Given the description of an element on the screen output the (x, y) to click on. 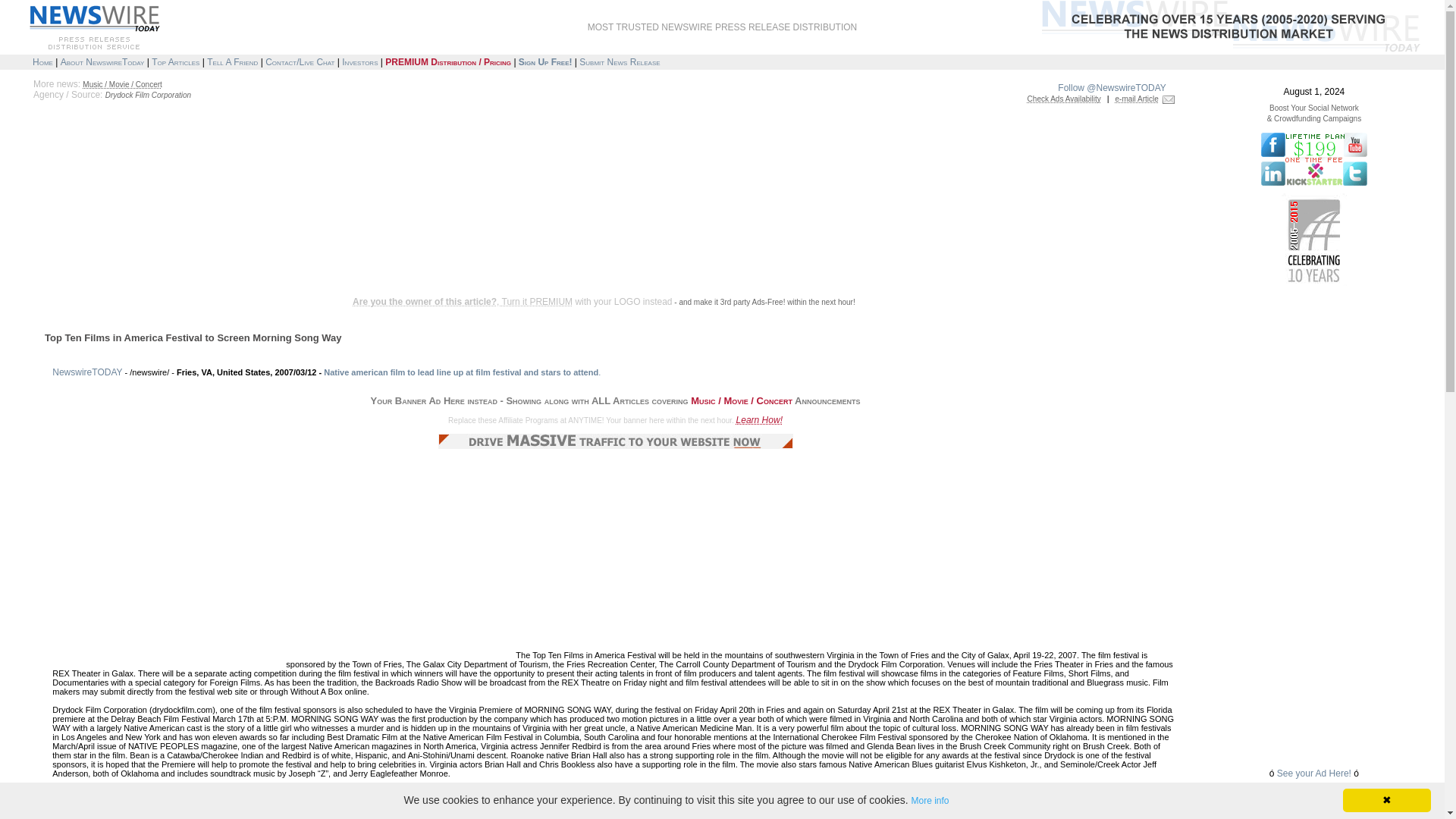
Drydock Film Corporation (147, 94)
Learn How! (759, 419)
Home (42, 61)
Sign Up FREE! (545, 61)
About NewswireToday (102, 61)
Tell a friend about NewswireToday (231, 61)
Submit News Release (619, 61)
Sign Up Free! (545, 61)
NewswireTODAY (87, 371)
Tell A Friend (231, 61)
Advertisement (300, 246)
Investors (359, 61)
